Given the description of an element on the screen output the (x, y) to click on. 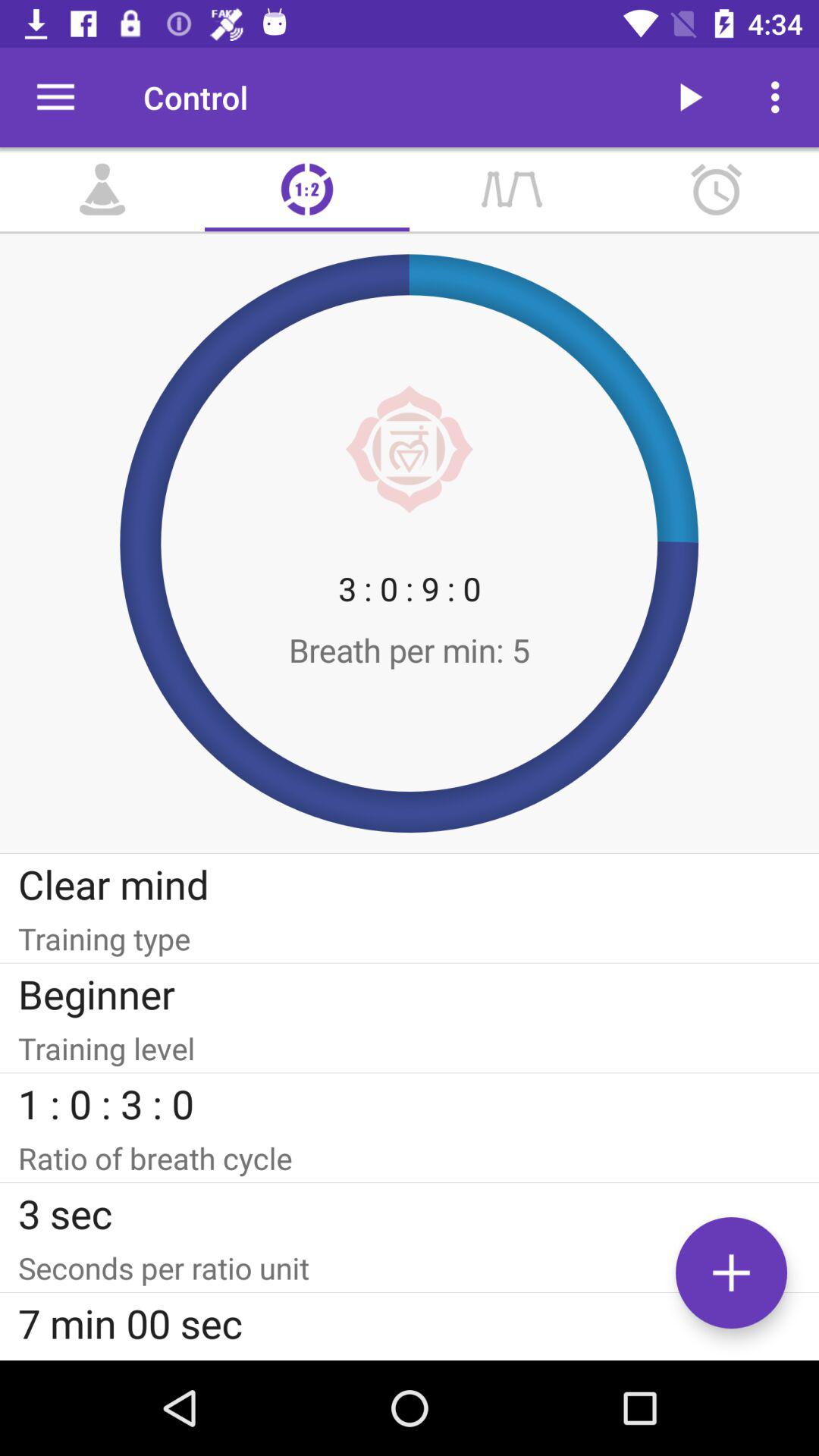
flip to 3 sec item (409, 1213)
